Given the description of an element on the screen output the (x, y) to click on. 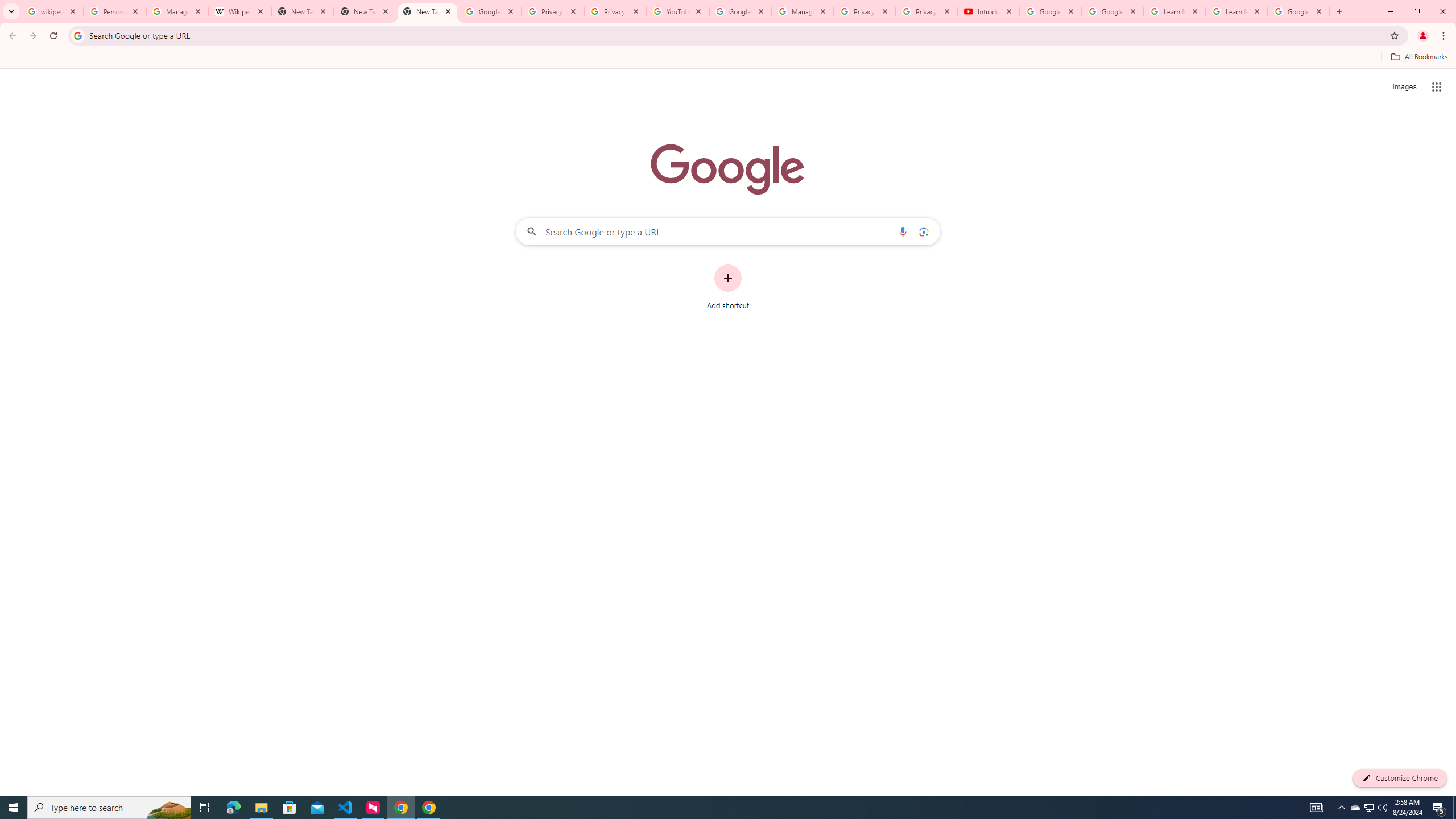
Search Google or type a URL (727, 230)
YouTube (678, 11)
Customize Chrome (1399, 778)
Search icon (77, 35)
Google Account Help (740, 11)
Wikipedia:Edit requests - Wikipedia (239, 11)
